Given the description of an element on the screen output the (x, y) to click on. 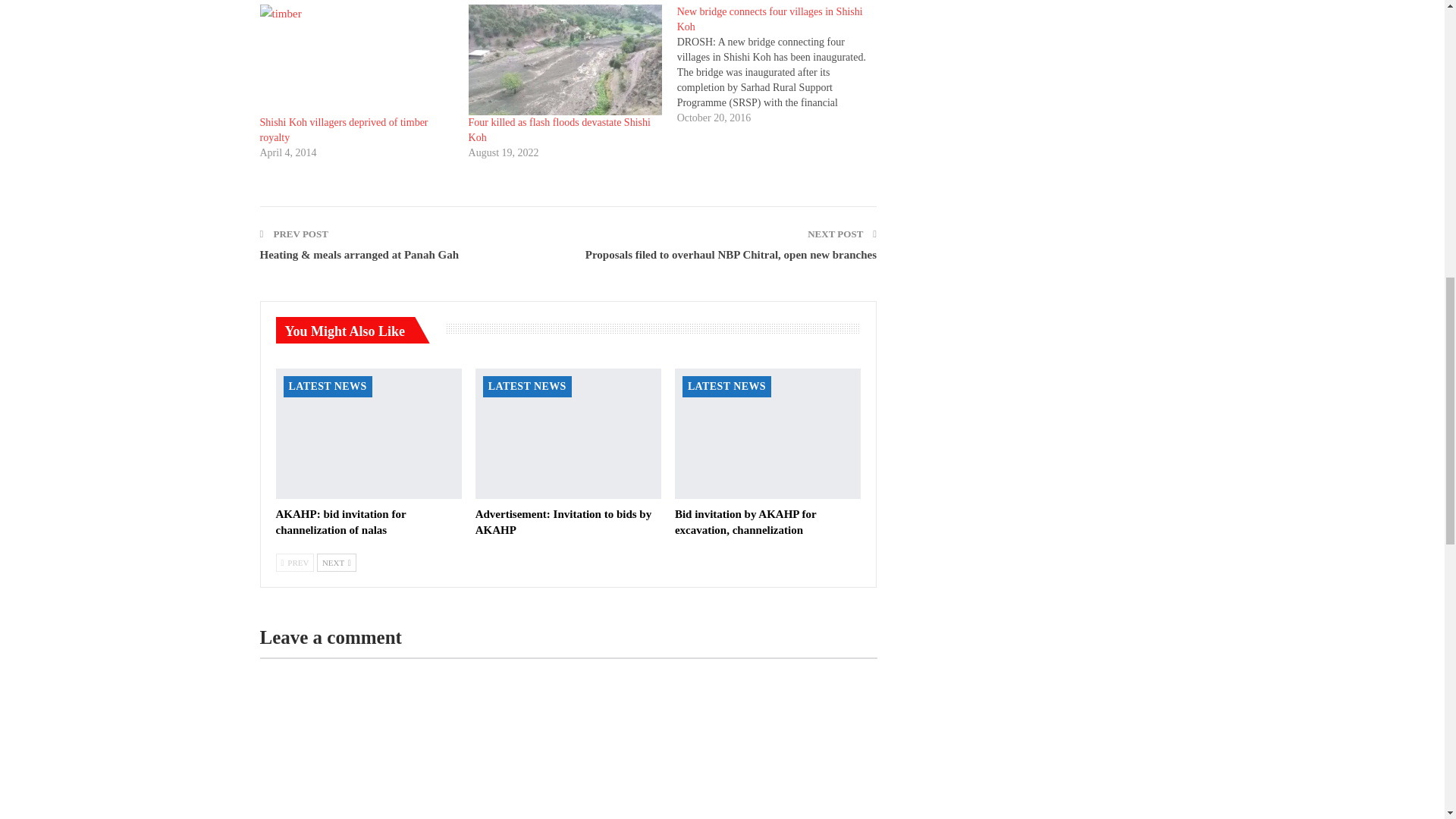
Shishi Koh villagers deprived of timber royalty (355, 59)
LATEST NEWS (327, 386)
Shishi Koh villagers deprived of timber royalty (343, 130)
New bridge connects four villages in Shishi Koh (781, 65)
Proposals filed to overhaul NBP Chitral, open new branches (730, 254)
Shishi Koh villagers deprived of timber royalty (343, 130)
Four killed as flash floods devastate Shishi Koh (565, 59)
Four killed as flash floods devastate Shishi Koh (559, 130)
Four killed as flash floods devastate Shishi Koh (559, 130)
New bridge connects four villages in Shishi Koh (770, 18)
